Given the description of an element on the screen output the (x, y) to click on. 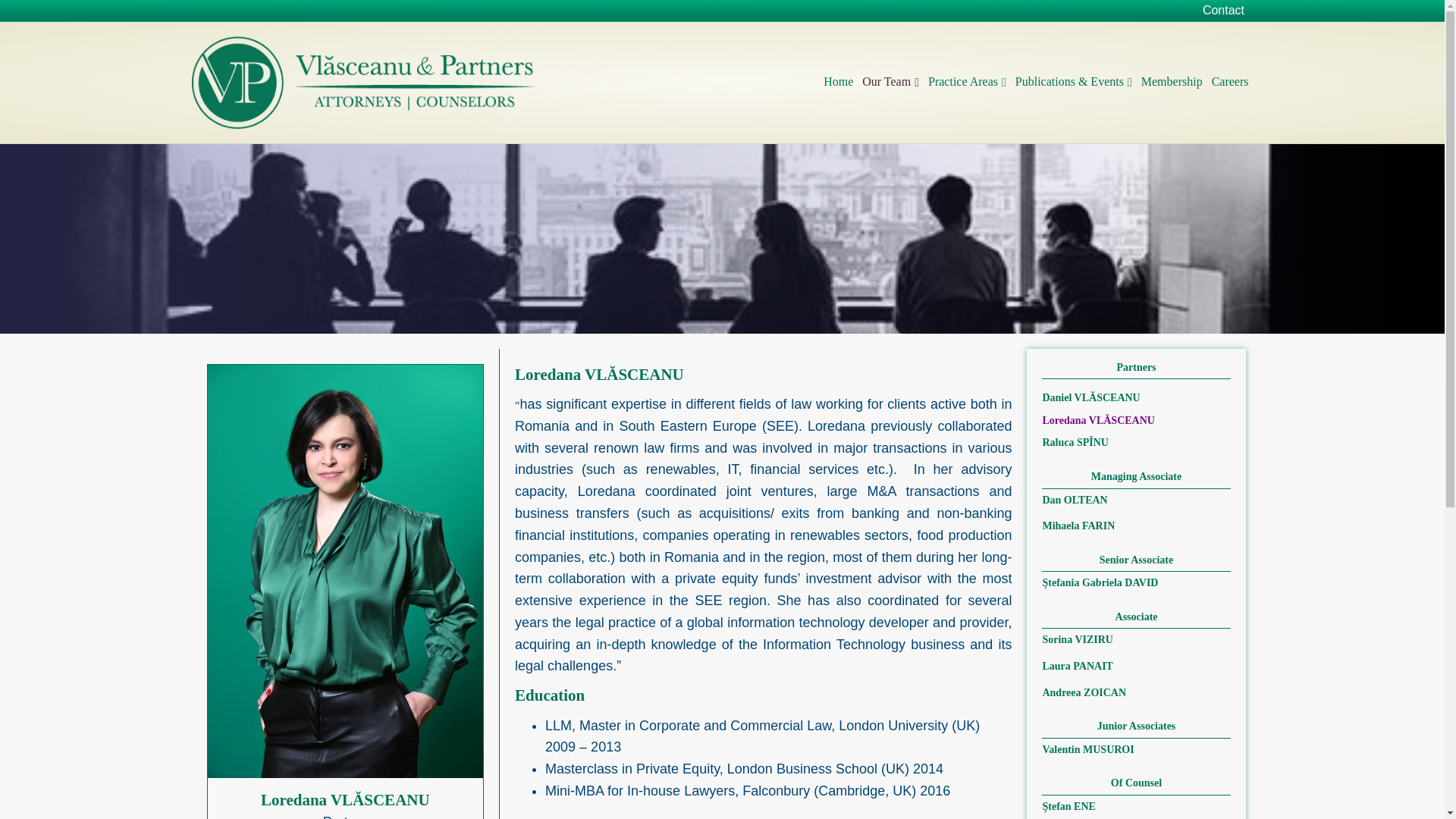
Mihaela FARIN (1078, 525)
Valentin MUSUROI (1088, 749)
Laura PANAIT (1077, 665)
Sorina VIZIRU (1077, 639)
Contact (1223, 10)
Andreea ZOICAN (1083, 692)
Dan OLTEAN (1074, 500)
